Given the description of an element on the screen output the (x, y) to click on. 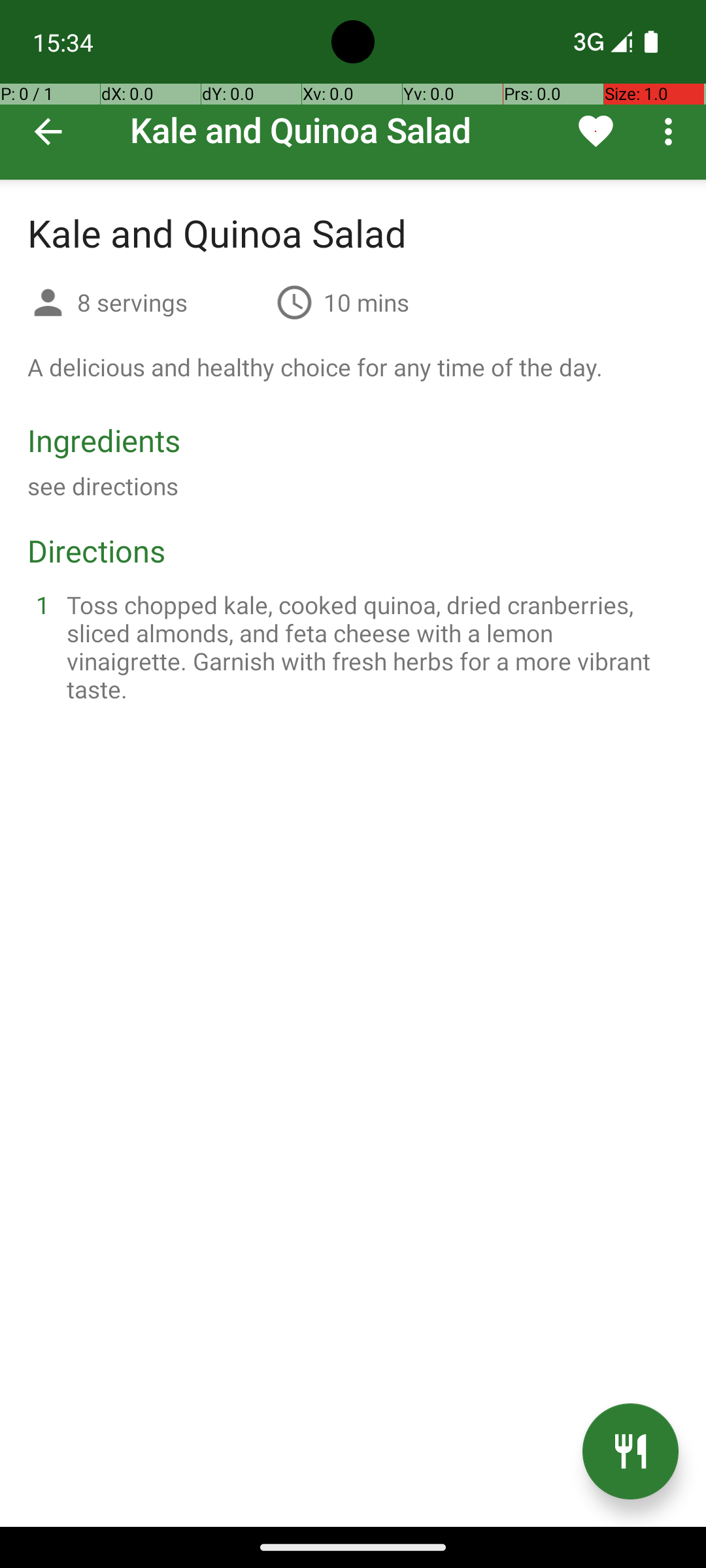
Toss chopped kale, cooked quinoa, dried cranberries, sliced almonds, and feta cheese with a lemon vinaigrette. Garnish with fresh herbs for a more vibrant taste. Element type: android.widget.TextView (368, 646)
